Given the description of an element on the screen output the (x, y) to click on. 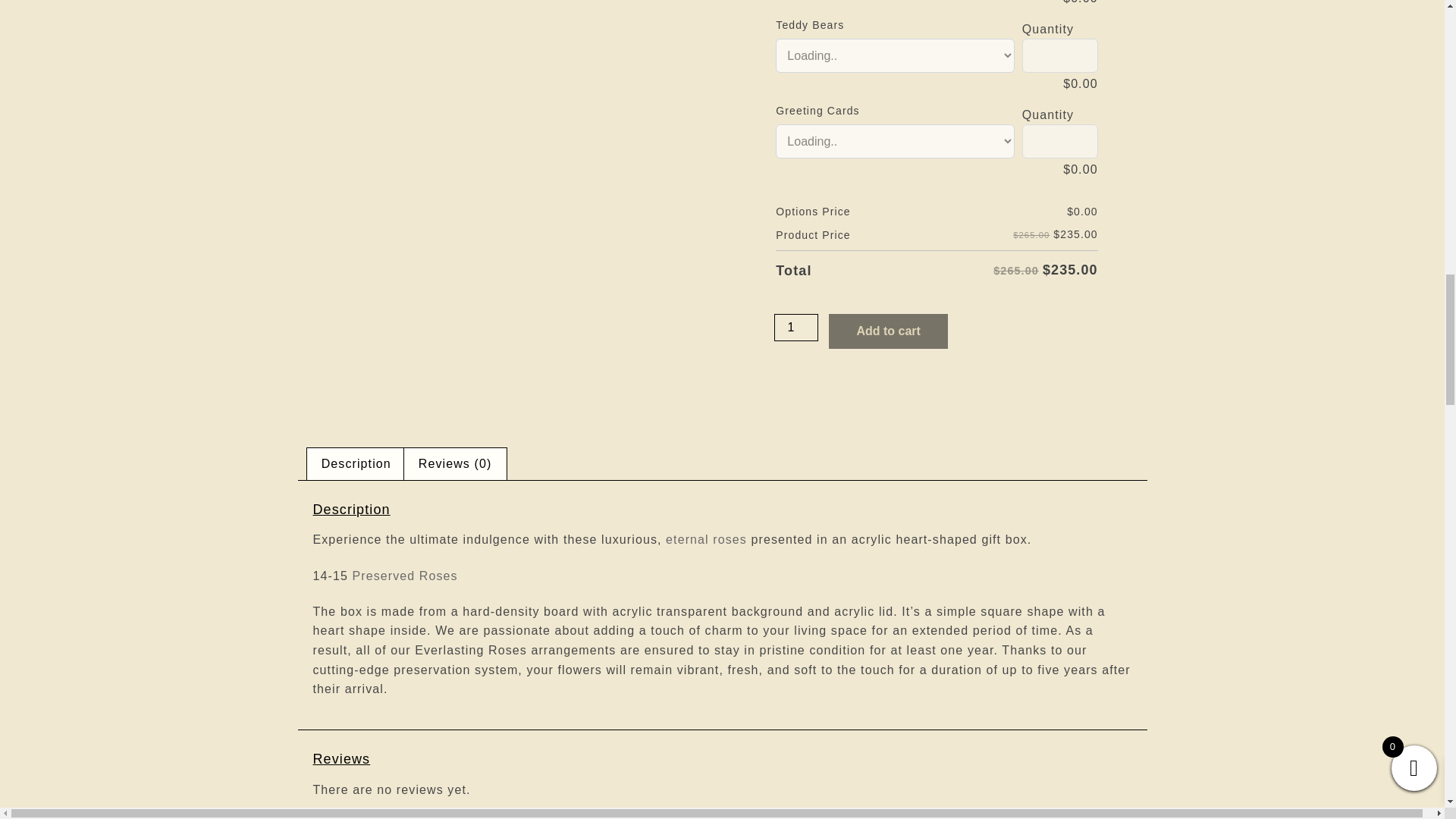
1 (796, 327)
